Given the description of an element on the screen output the (x, y) to click on. 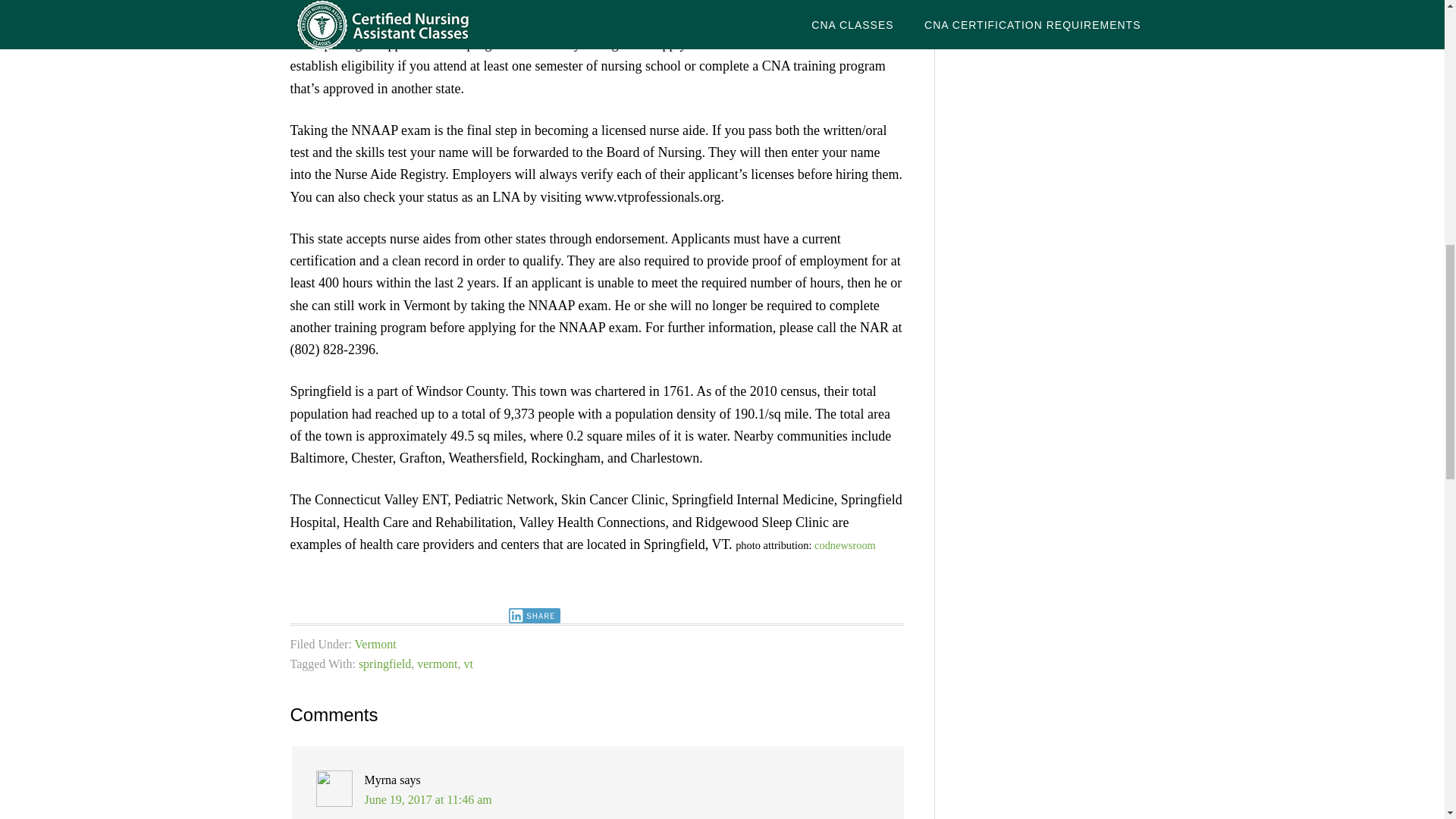
springfield (384, 663)
Vermont (375, 644)
vermont (436, 663)
SHARE (534, 615)
June 19, 2017 at 11:46 am (428, 799)
codnewsroom (844, 544)
